Given the description of an element on the screen output the (x, y) to click on. 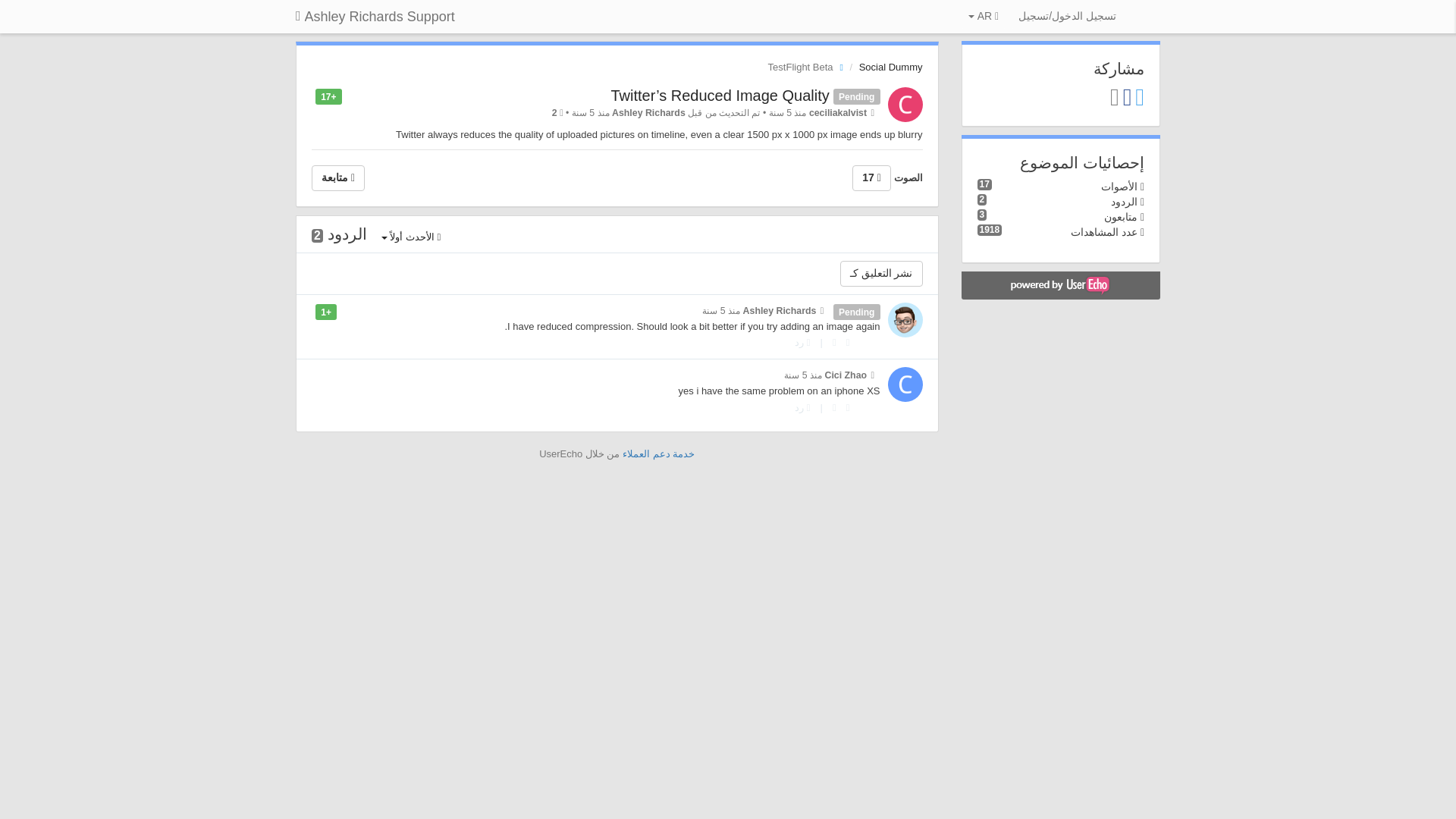
Ashley Richards Support (374, 16)
Social Dummy (891, 66)
TestFlight Beta (809, 66)
AR (983, 16)
